Given the description of an element on the screen output the (x, y) to click on. 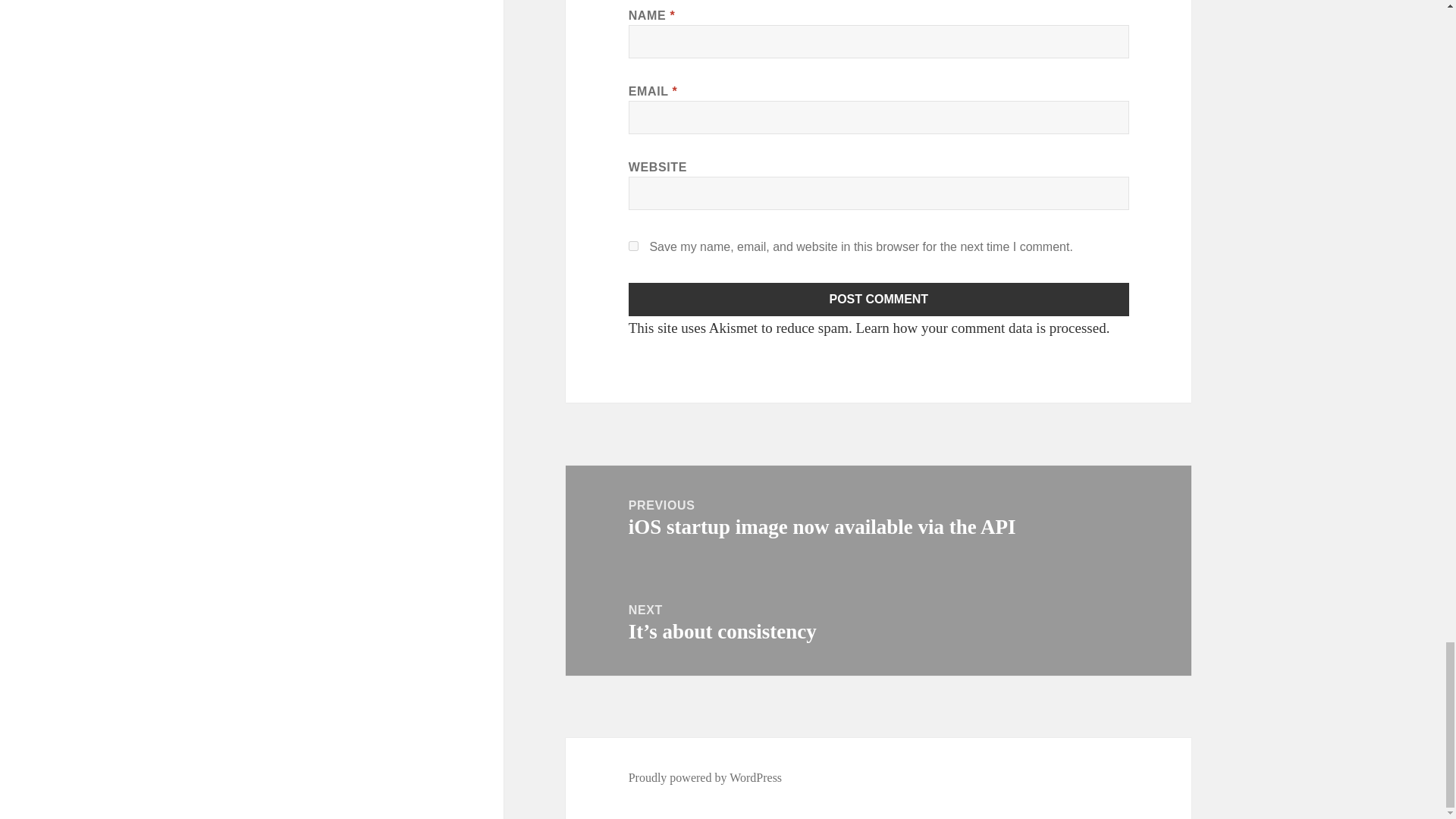
Post Comment (878, 299)
yes (633, 245)
